Given the description of an element on the screen output the (x, y) to click on. 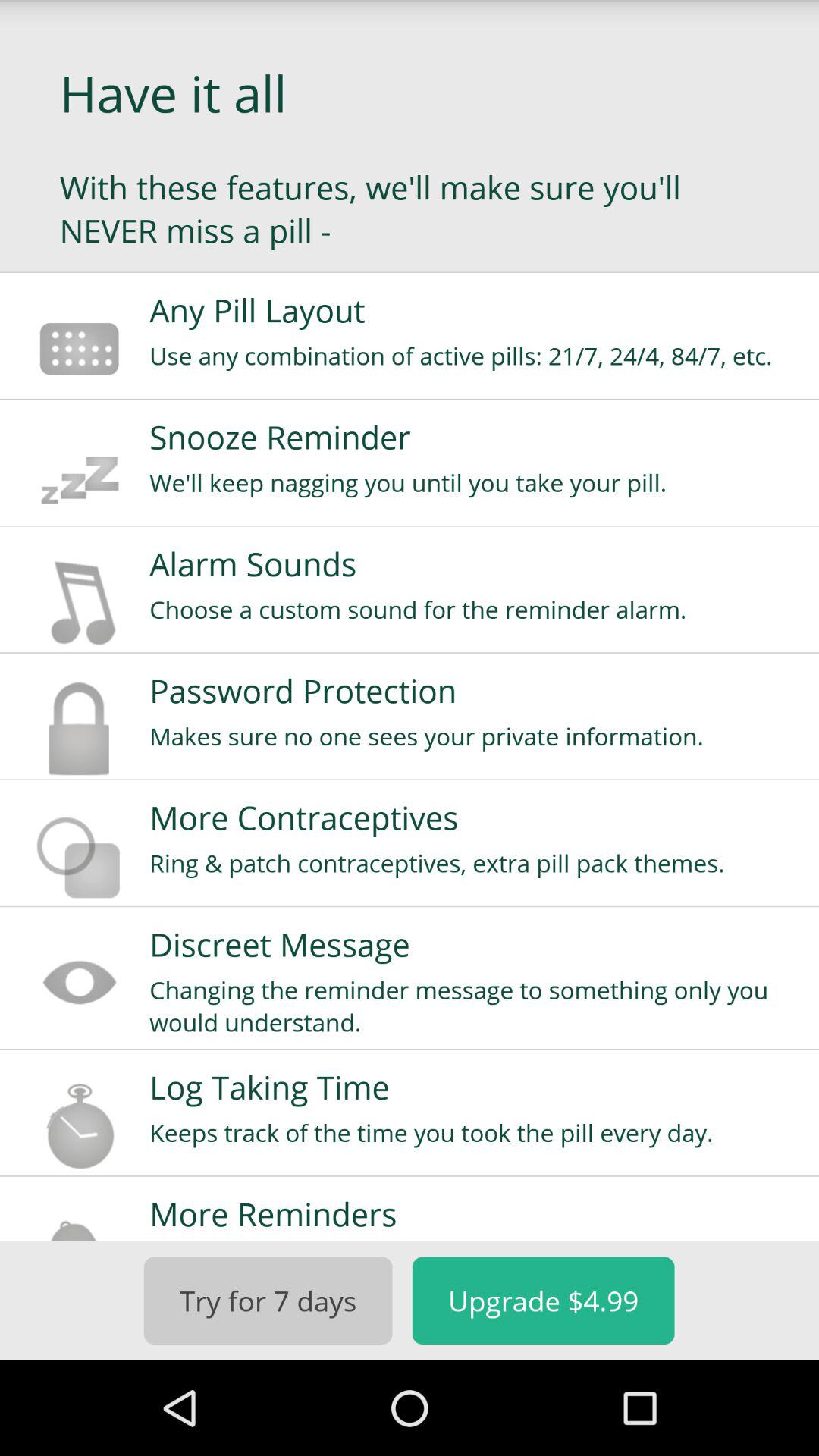
launch the upgrade $4.99 item (543, 1300)
